Given the description of an element on the screen output the (x, y) to click on. 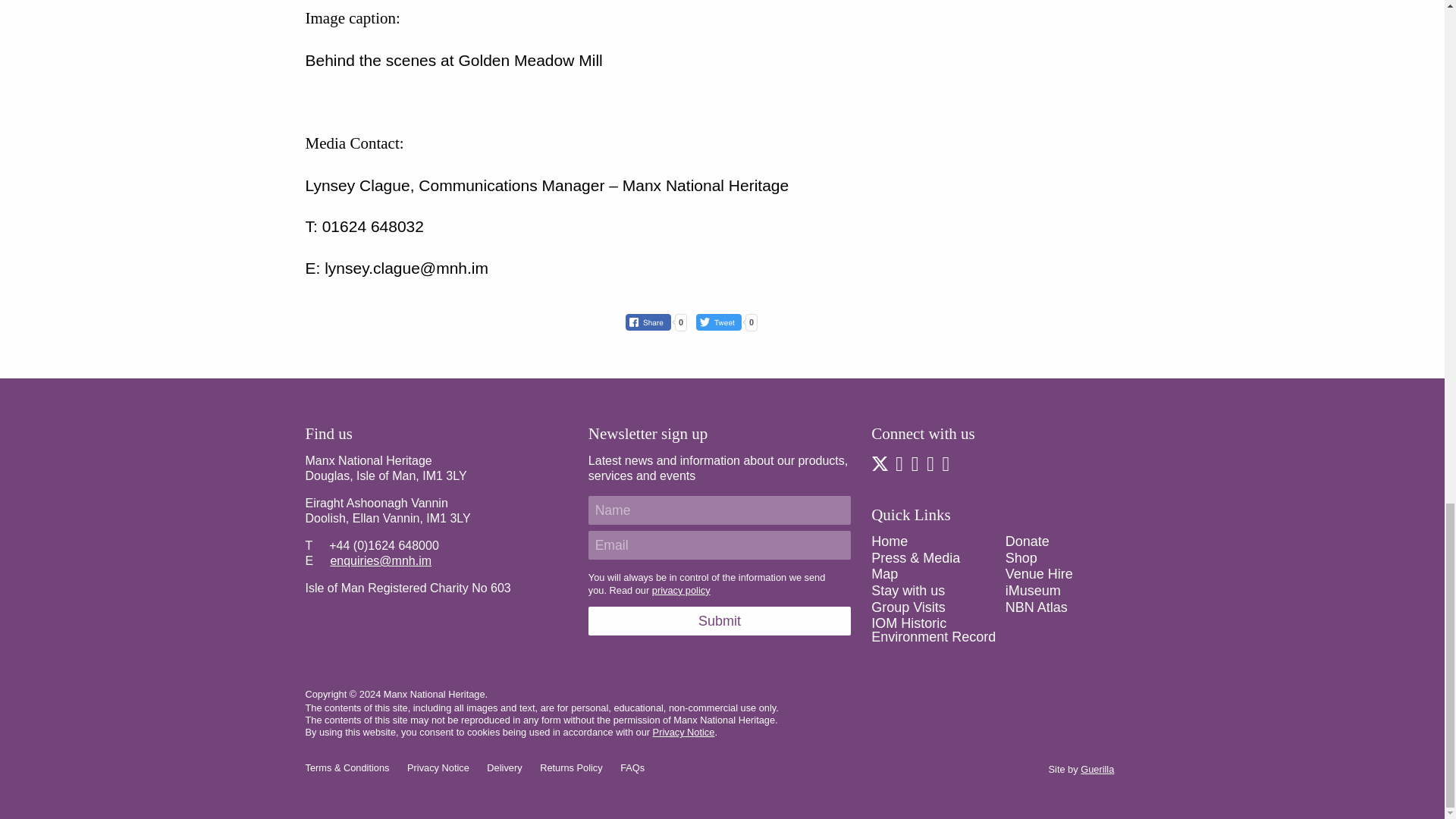
Submit (719, 620)
